Given the description of an element on the screen output the (x, y) to click on. 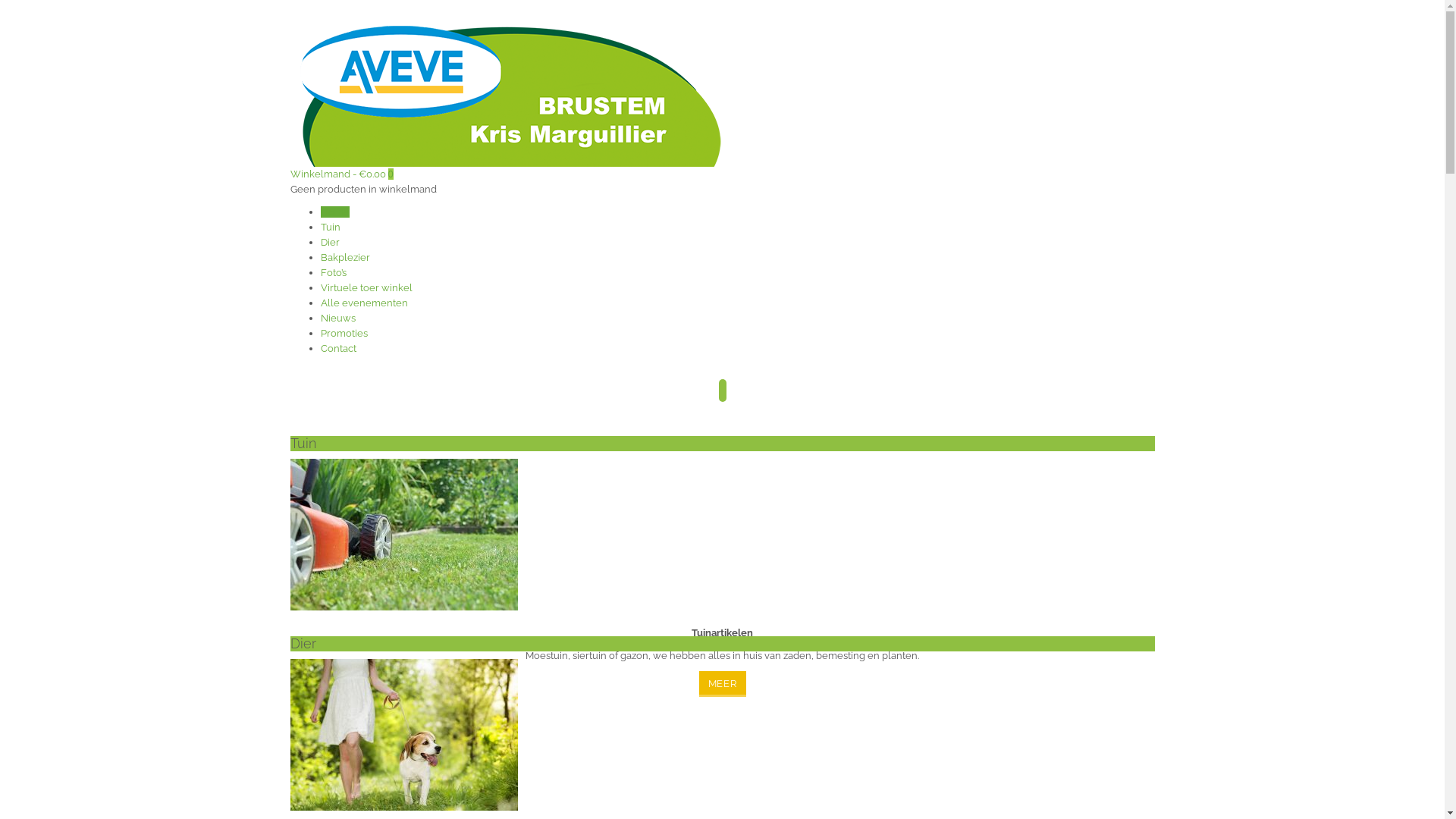
Home Element type: text (334, 211)
Dier Element type: text (329, 241)
Contact Element type: text (337, 348)
Tuin Element type: text (329, 226)
Bakplezier Element type: text (344, 257)
MEER Element type: text (722, 683)
Promoties Element type: text (343, 332)
Alle evenementen Element type: text (363, 302)
Nieuws Element type: text (337, 317)
Virtuele toer winkel Element type: text (365, 287)
